Given the description of an element on the screen output the (x, y) to click on. 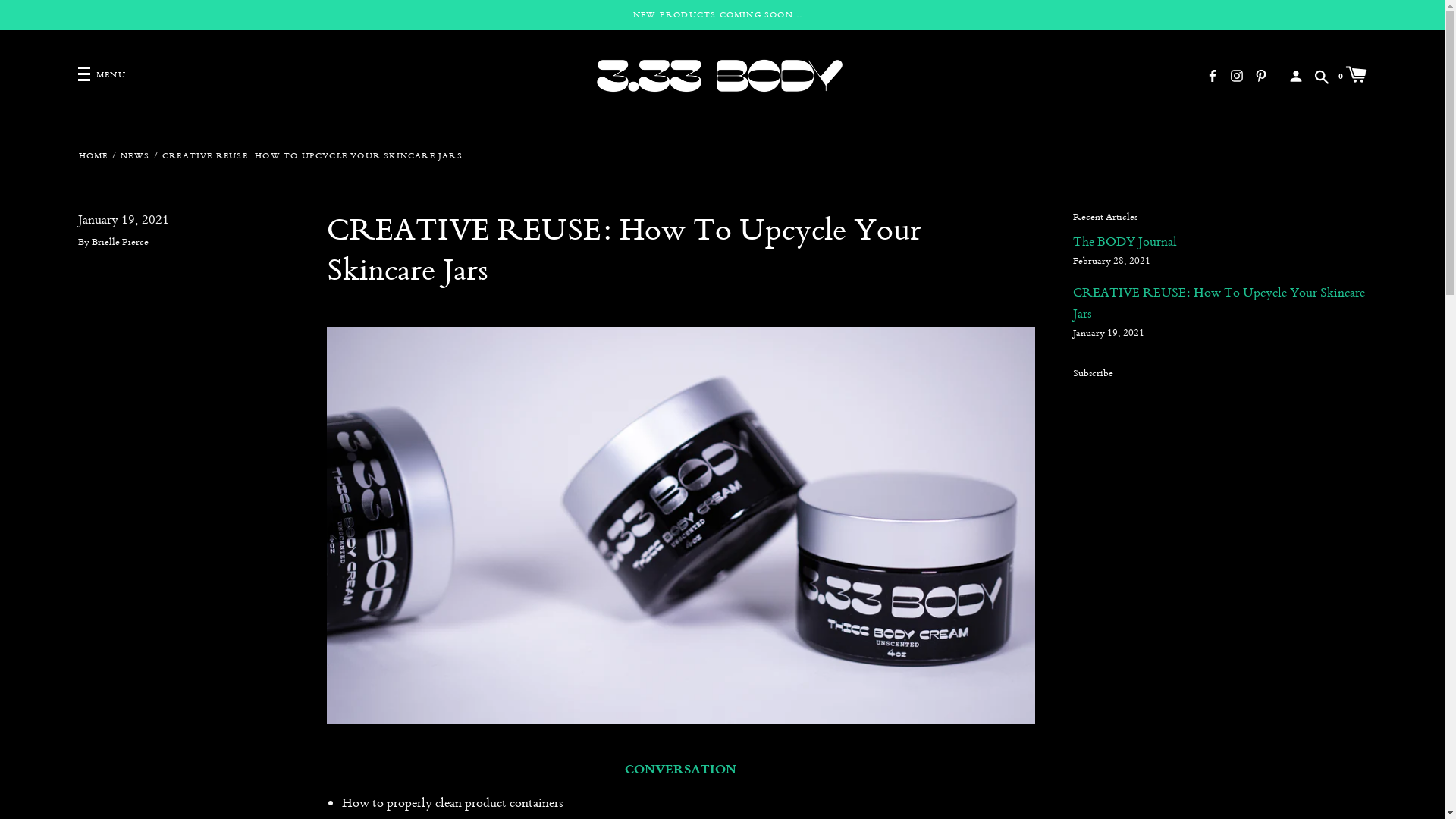
MENU Element type: text (100, 75)
CREATIVE REUSE: How To Upcycle Your Skincare Jars Element type: text (1219, 302)
HOME Element type: text (92, 155)
NEWS Element type: text (134, 155)
3.33 BODY on Instagram Element type: hover (1236, 73)
0 Element type: text (1352, 73)
The BODY Journal Element type: text (1124, 240)
Subscribe Element type: text (1093, 372)
3.33 BODY on Pinterest Element type: hover (1261, 73)
3.33 BODY on Facebook Element type: hover (1212, 73)
